Given the description of an element on the screen output the (x, y) to click on. 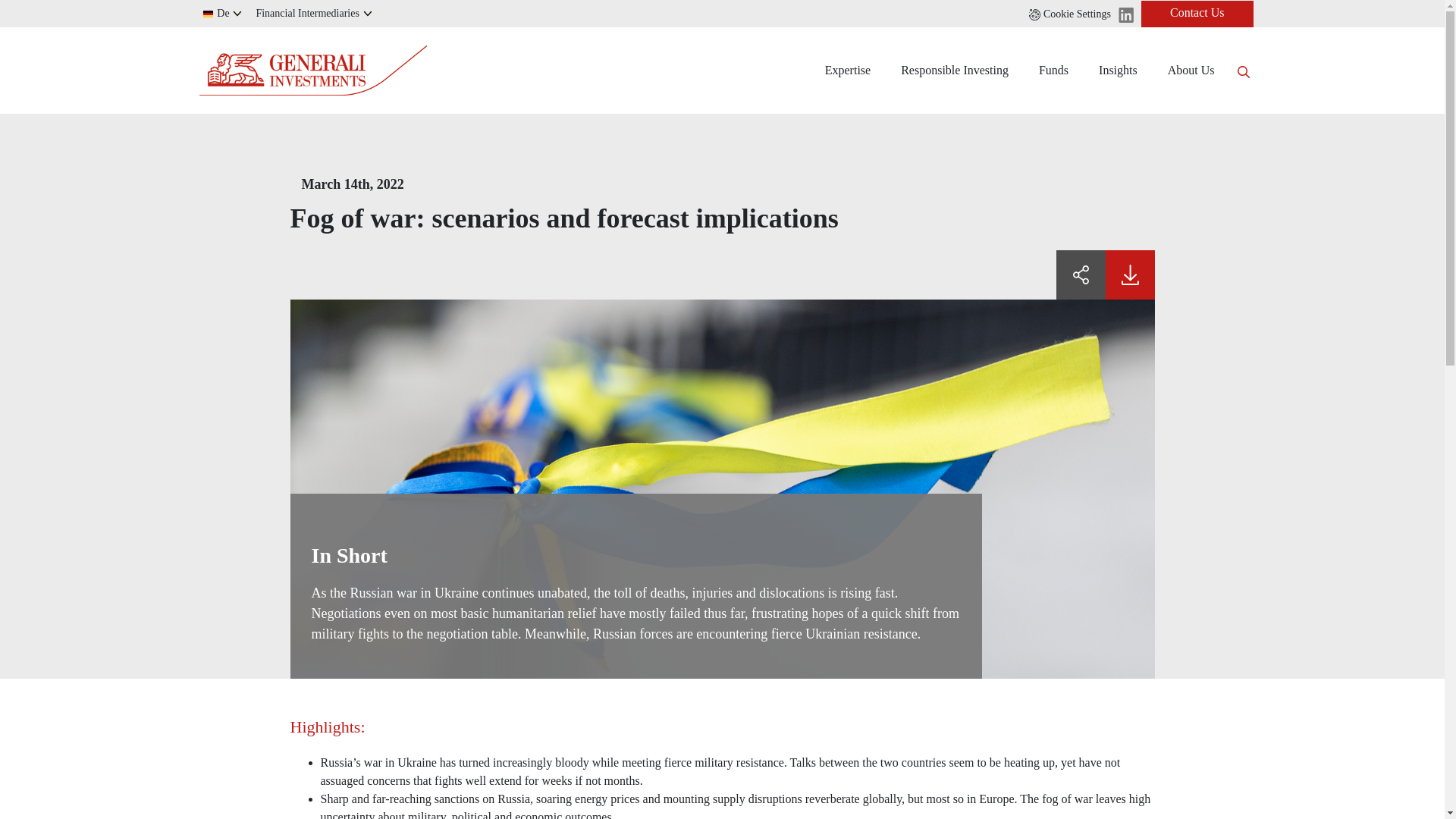
Responsible Investing (954, 70)
Contact Us (1197, 13)
About Us (1191, 70)
